Given the description of an element on the screen output the (x, y) to click on. 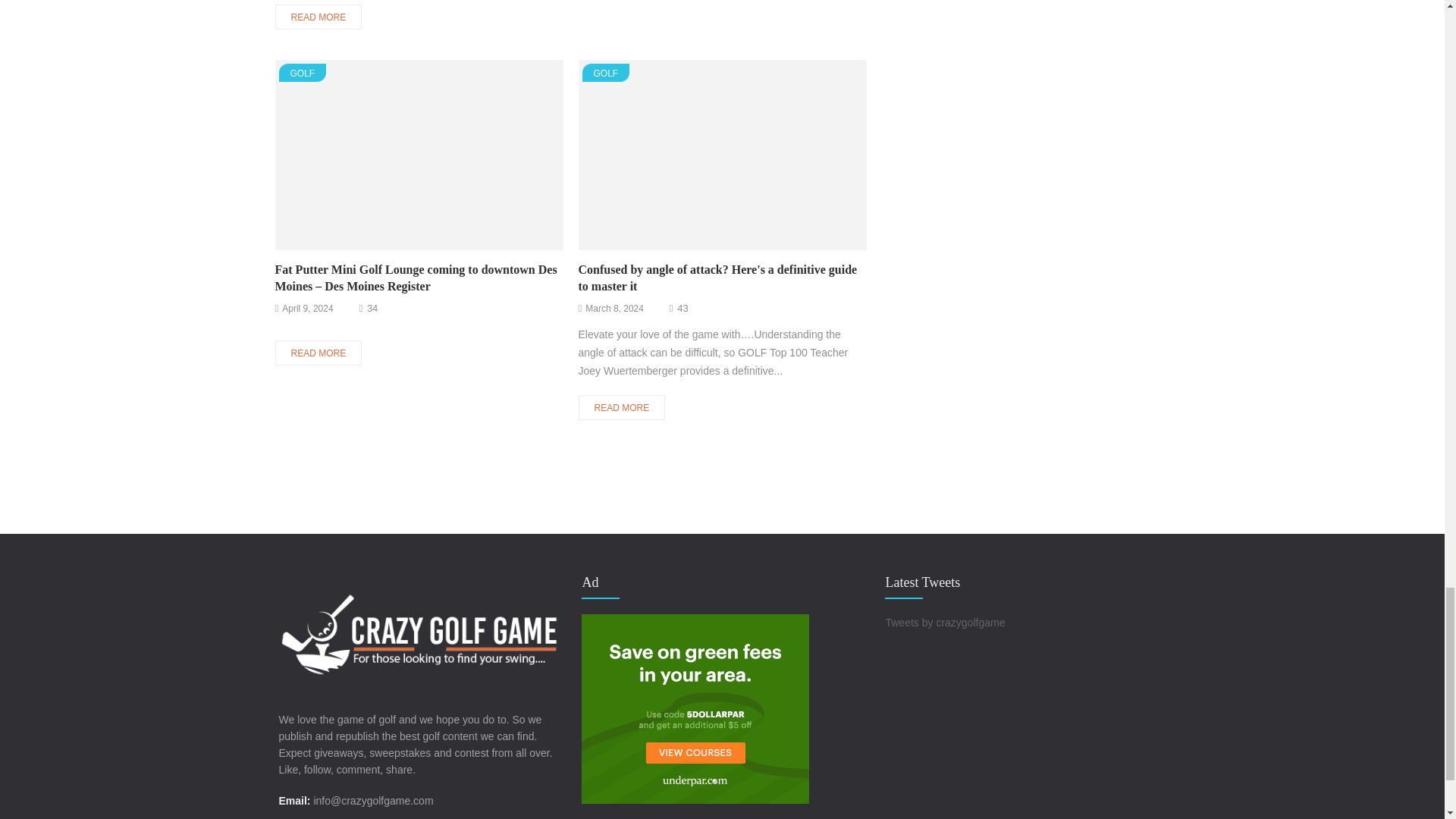
READ MORE (318, 16)
